Given the description of an element on the screen output the (x, y) to click on. 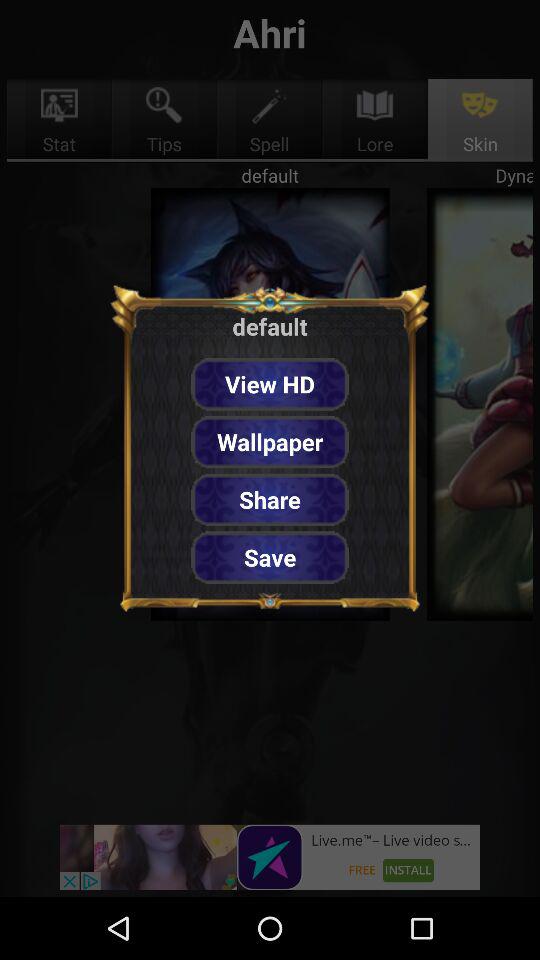
open the item below view hd item (269, 441)
